Given the description of an element on the screen output the (x, y) to click on. 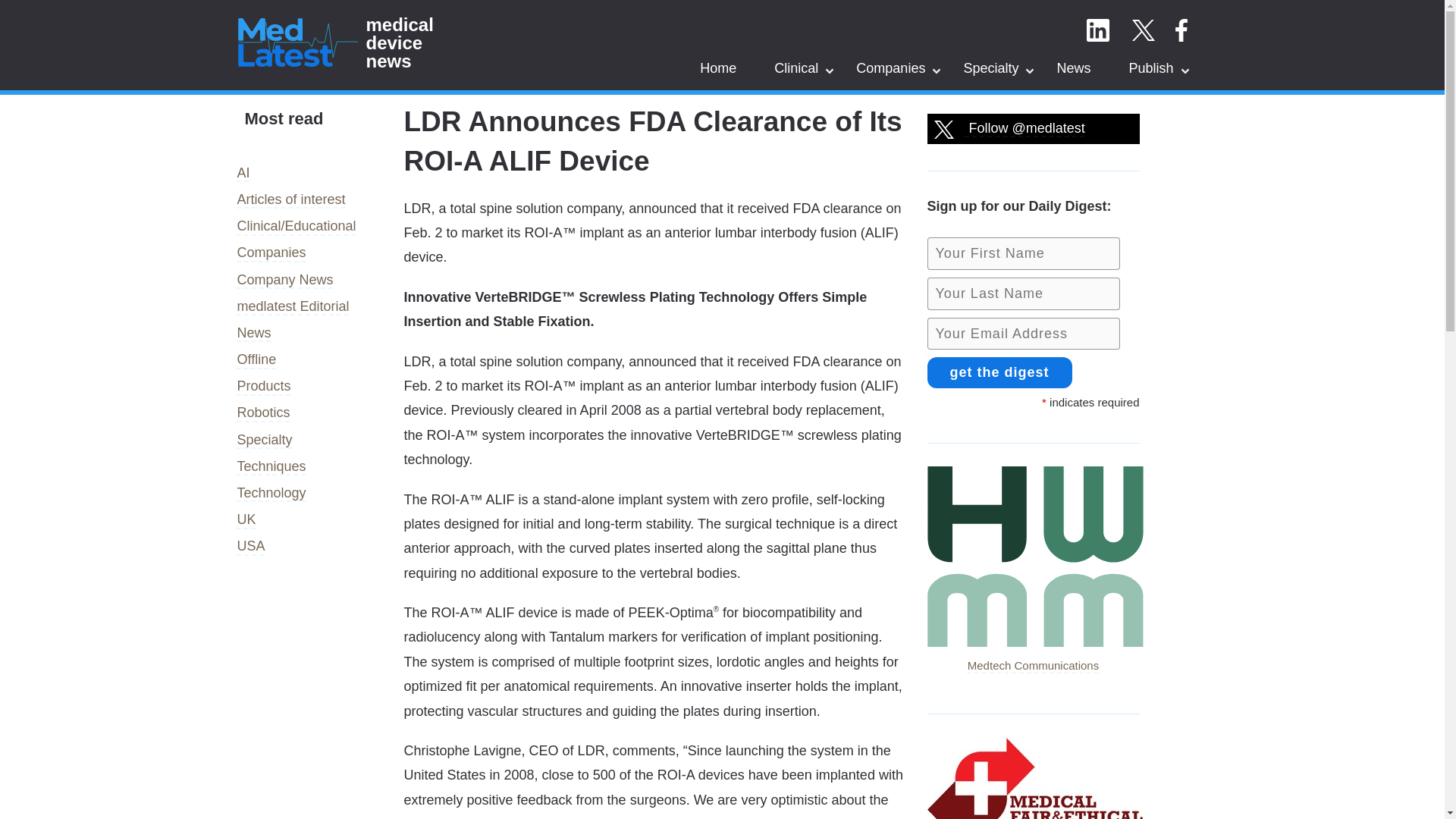
Companies (890, 67)
Specialty (989, 67)
Clinical (796, 67)
get the digest (998, 372)
Medlatest - On Facebook (1180, 30)
Publish (1150, 67)
Medlatest - On X (1142, 30)
Home (718, 67)
Specialty (989, 67)
Medtech Communications (1034, 654)
Medlatest - On LinkedIn (1097, 30)
Companies (890, 67)
Clinical (796, 67)
get the digest (998, 372)
Home (718, 67)
